Given the description of an element on the screen output the (x, y) to click on. 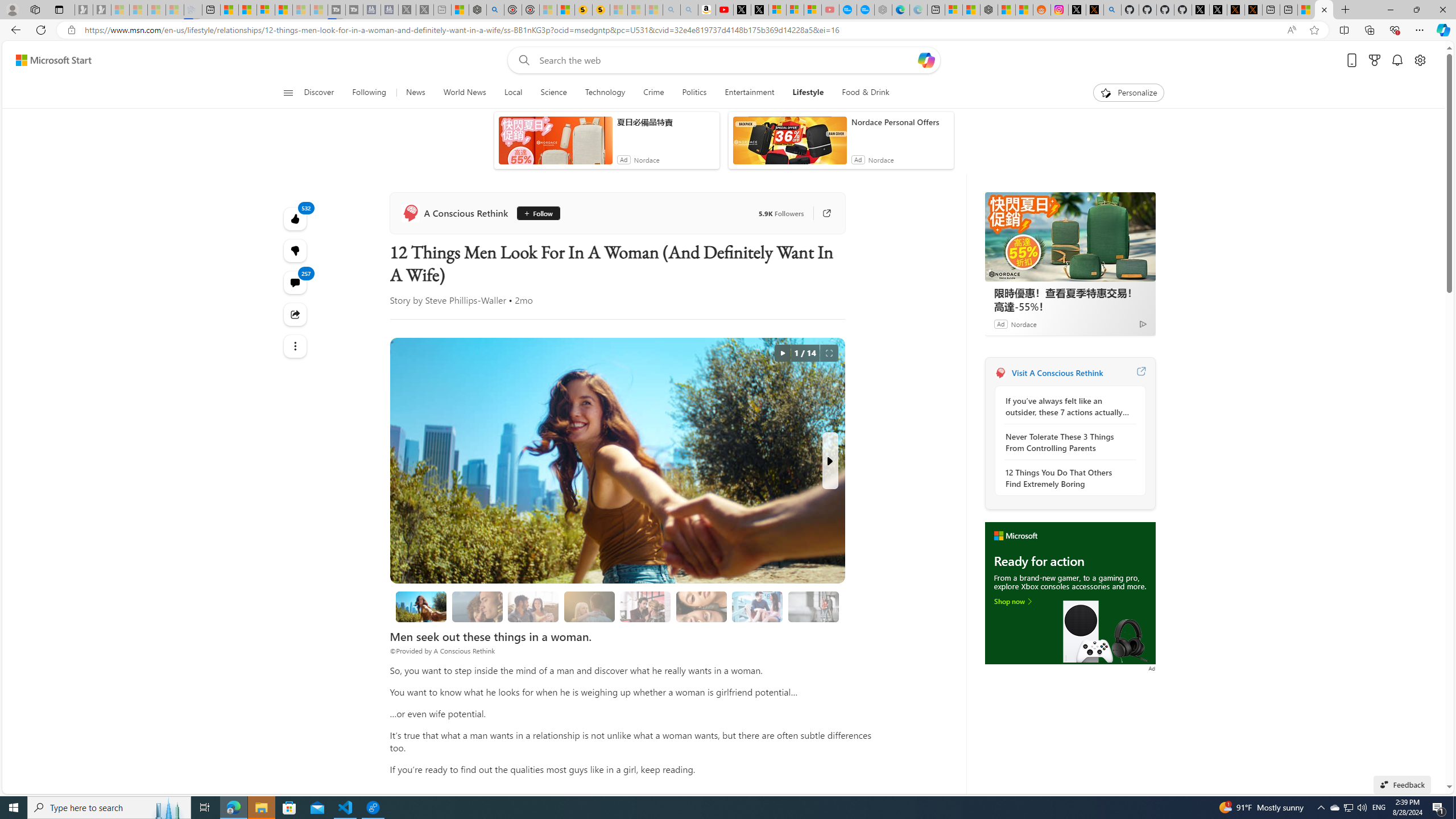
Personalize (1128, 92)
Profile / X (1200, 9)
Next Slide (829, 460)
Nordace - Duffels (989, 9)
Men seek out these things in a woman. (421, 606)
poe - Search (495, 9)
5. She is independent. (700, 606)
Notifications (1397, 60)
Visit A Conscious Rethink website (1140, 372)
github - Search (1112, 9)
